Given the description of an element on the screen output the (x, y) to click on. 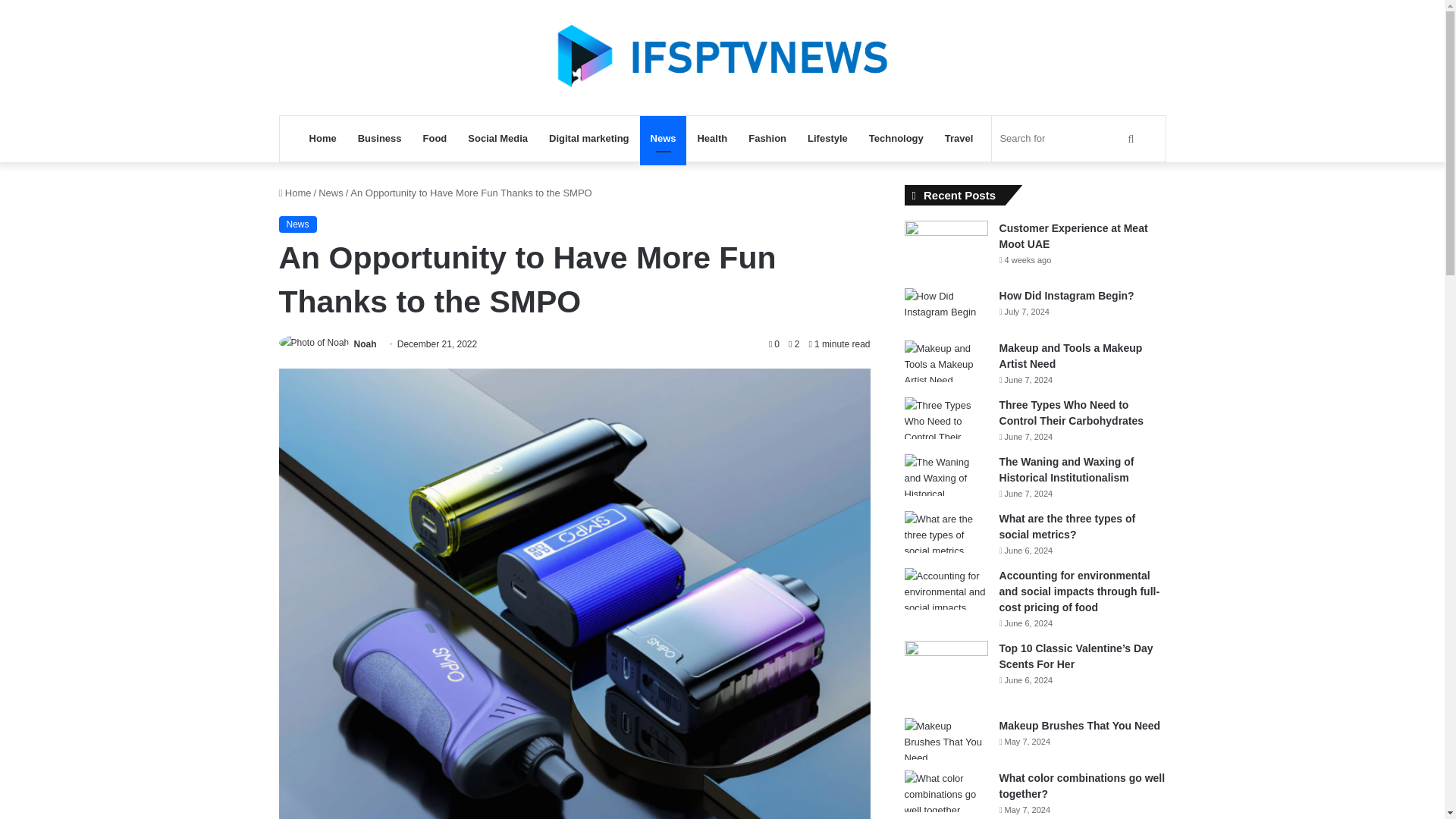
News (330, 193)
My Blog (721, 57)
Business (379, 138)
Digital marketing (588, 138)
Fashion (767, 138)
News (298, 224)
Search for (1068, 138)
Home (295, 193)
Food (435, 138)
Noah (365, 344)
